Given the description of an element on the screen output the (x, y) to click on. 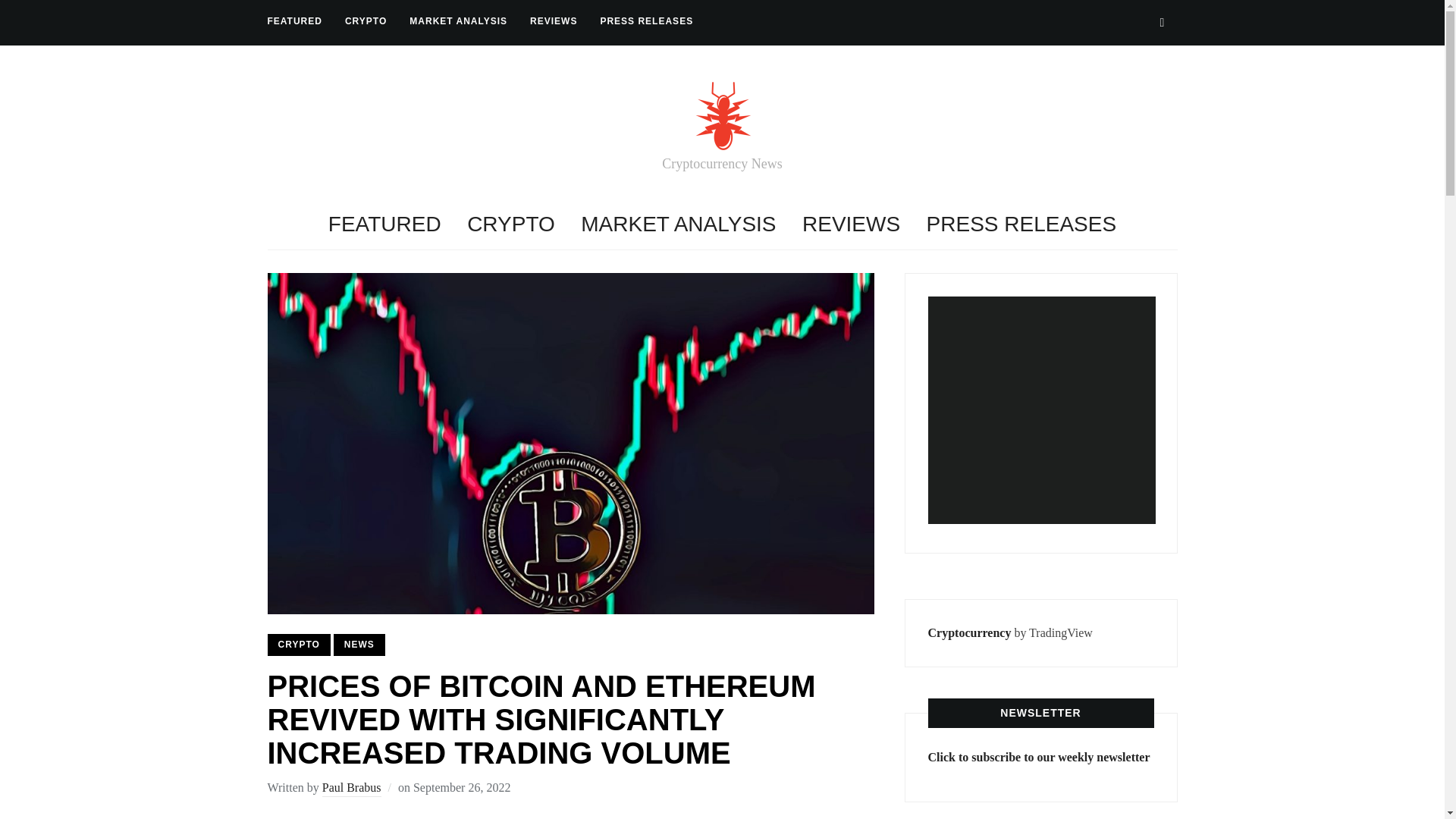
CRYPTO (298, 644)
MARKET ANALYSIS (457, 21)
CRYPTO (510, 224)
CRYPTO (366, 21)
Paul Brabus (351, 788)
Coin360.com: Cryptocurrency Market State (1042, 410)
FEATURED (293, 21)
REVIEWS (850, 224)
Posts by Paul Brabus (351, 788)
FEATURED (385, 224)
